Given the description of an element on the screen output the (x, y) to click on. 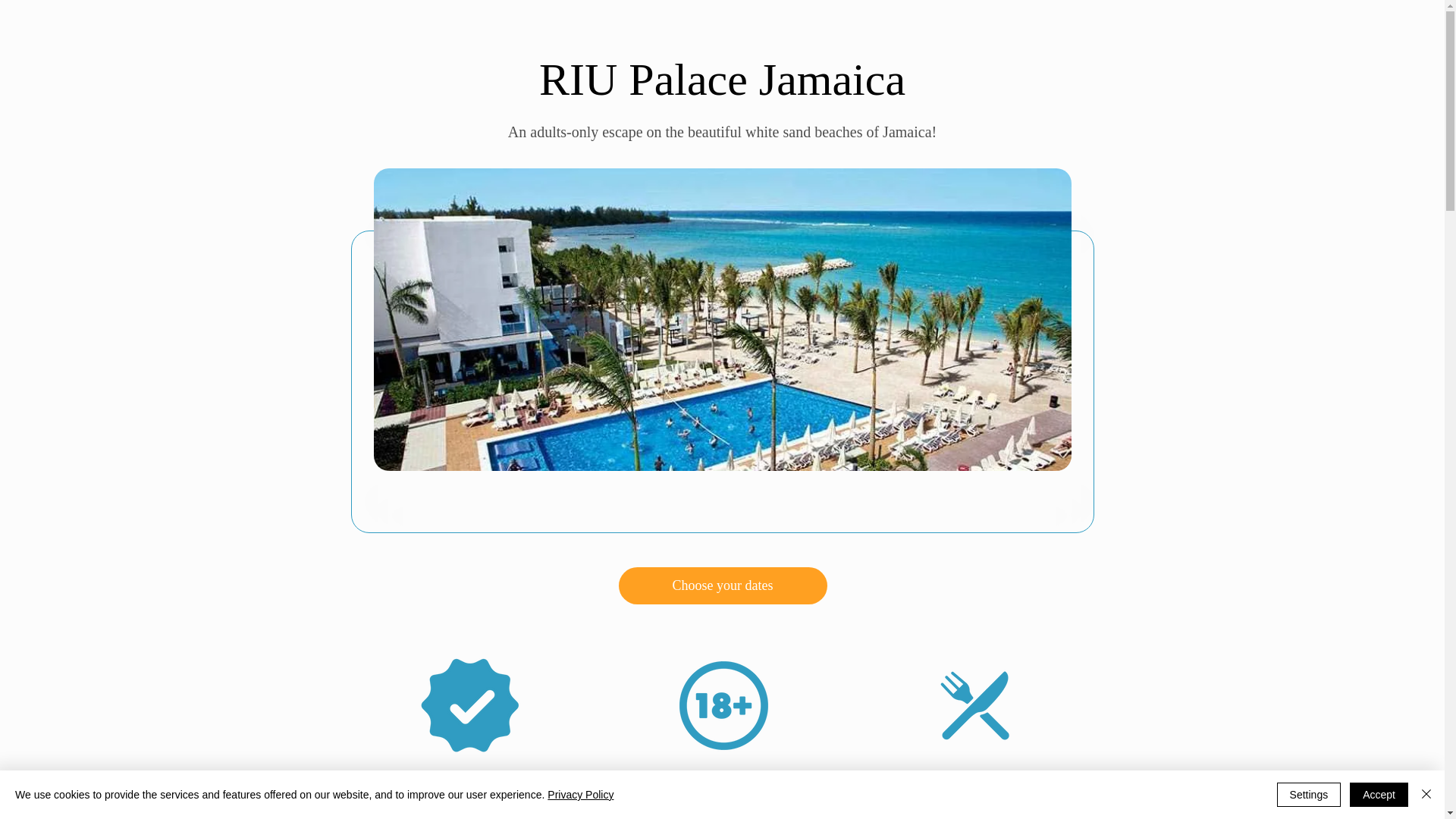
2.png (721, 705)
Settings (1308, 794)
Accept (1378, 794)
1.png (468, 705)
Choose your dates (722, 585)
3.png (973, 705)
Privacy Policy (579, 794)
